Given the description of an element on the screen output the (x, y) to click on. 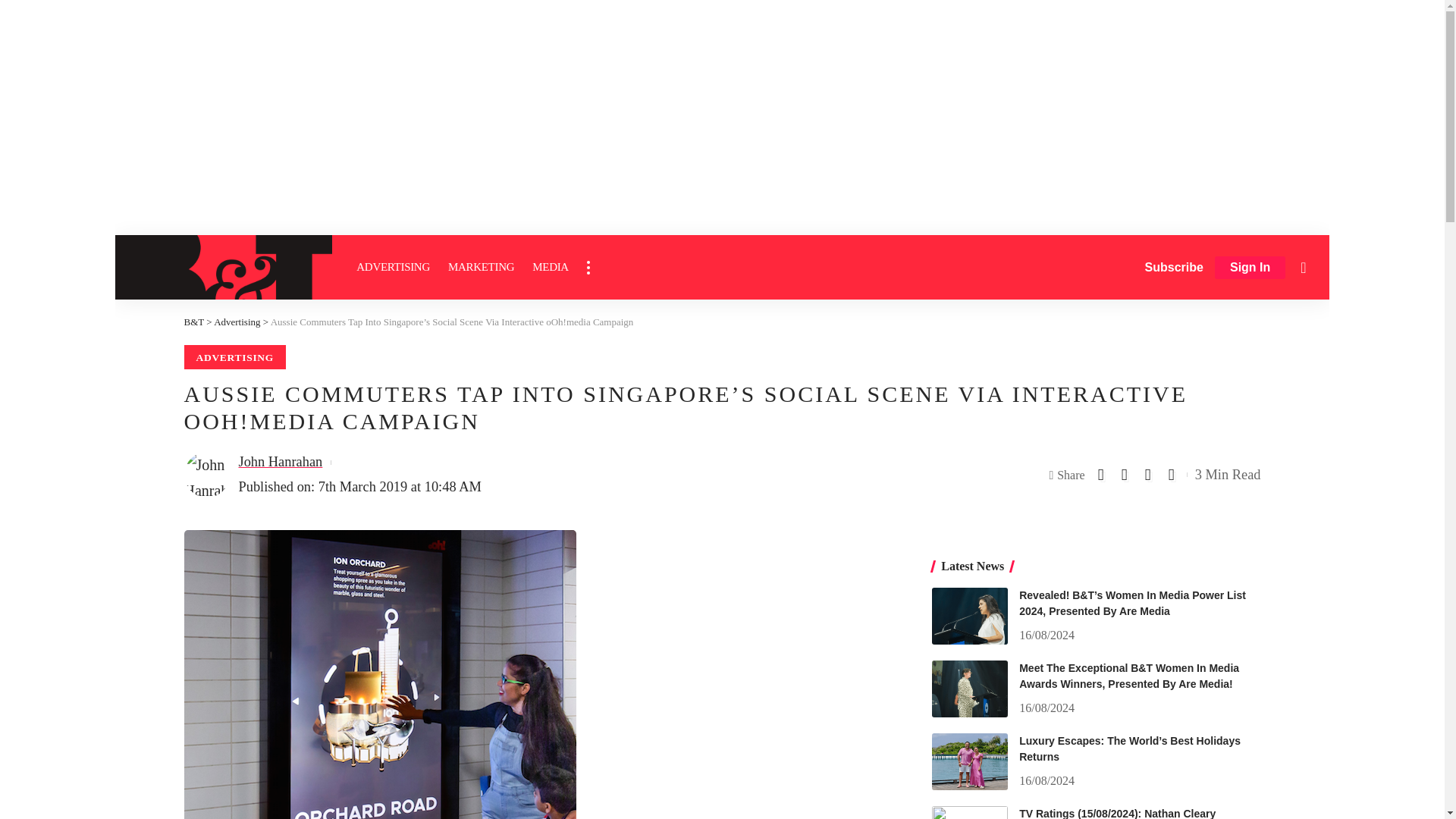
MARKETING (480, 267)
Subscribe (1174, 267)
ADVERTISING (393, 267)
Go to the Advertising Category archives. (237, 321)
Sign In (1249, 267)
